Given the description of an element on the screen output the (x, y) to click on. 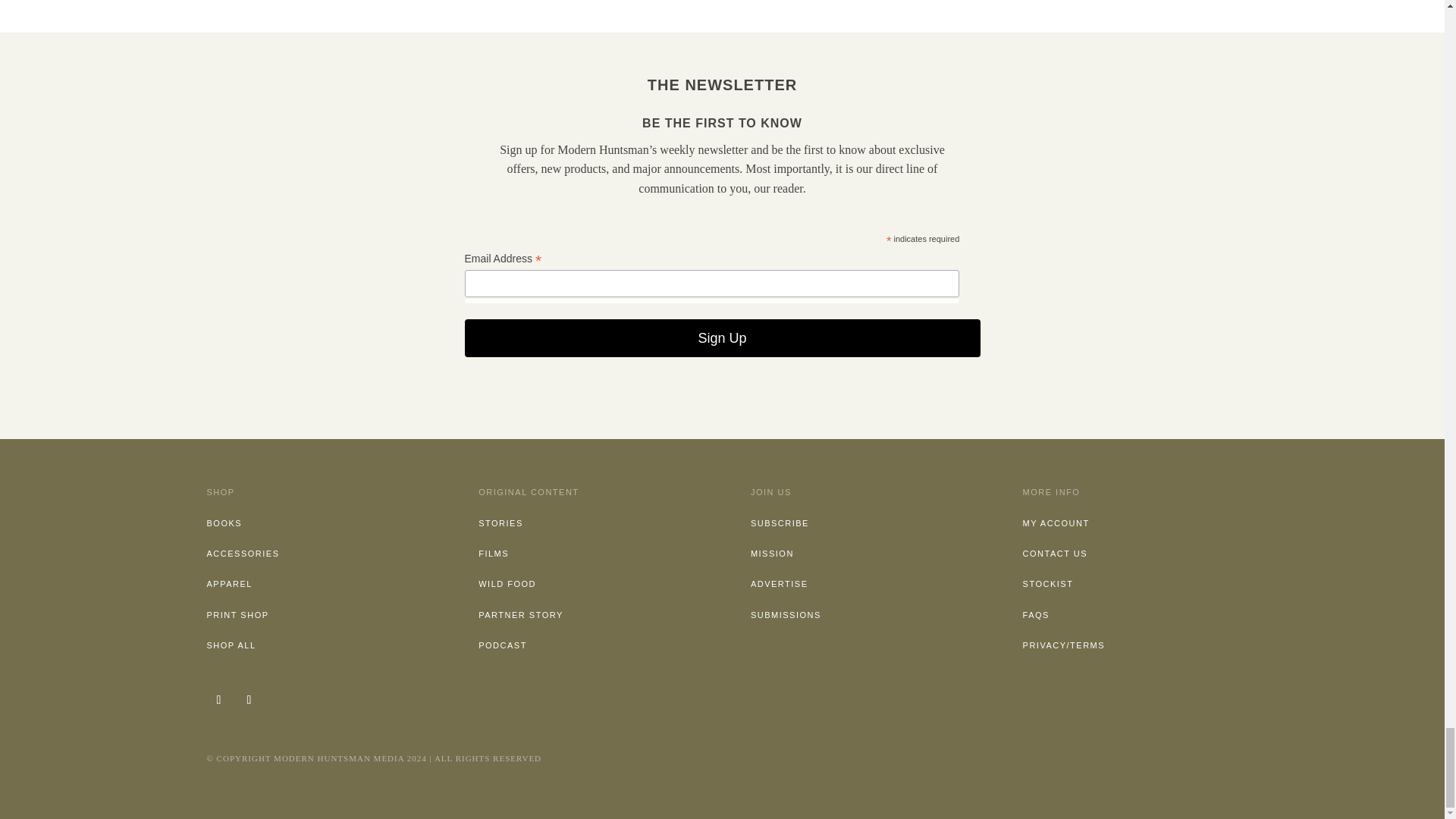
Follow on Instagram (218, 699)
Sign Up (721, 338)
Follow on Facebook (247, 699)
